Given the description of an element on the screen output the (x, y) to click on. 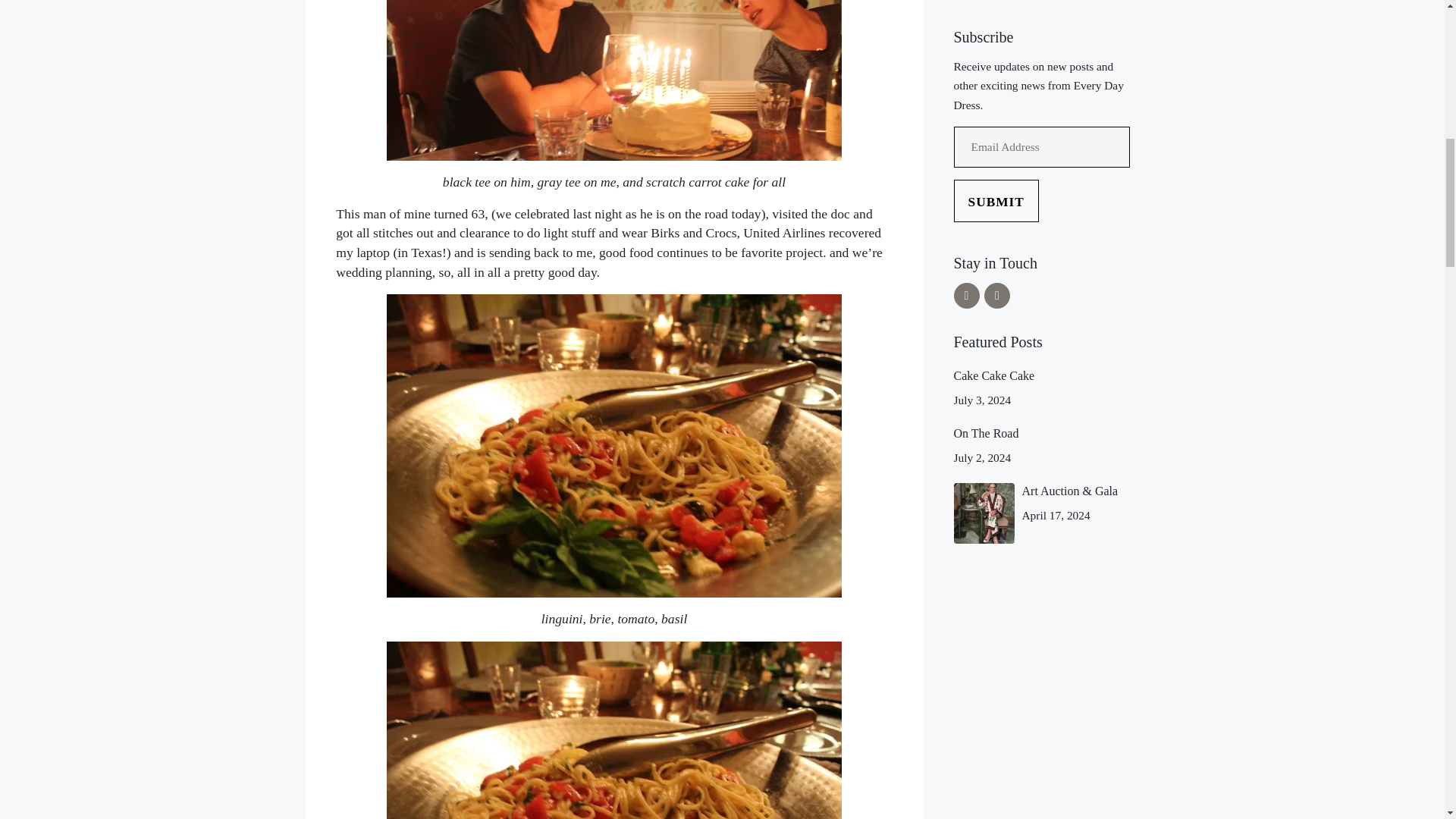
On the Road (986, 432)
cake cake cake (994, 375)
